Given the description of an element on the screen output the (x, y) to click on. 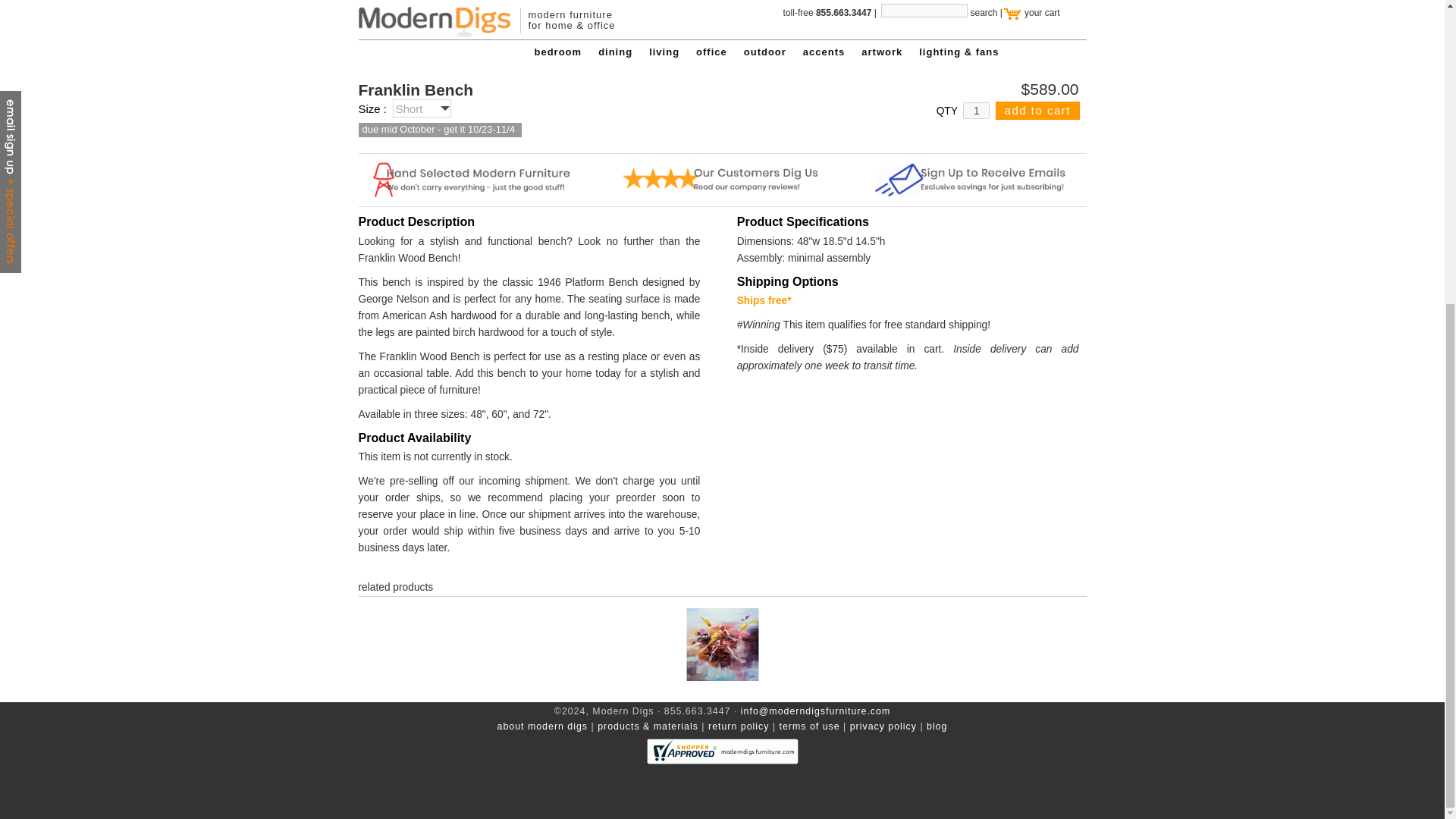
1 (976, 110)
 add to cart  (1037, 110)
Fish Wall Art (721, 644)
